Given the description of an element on the screen output the (x, y) to click on. 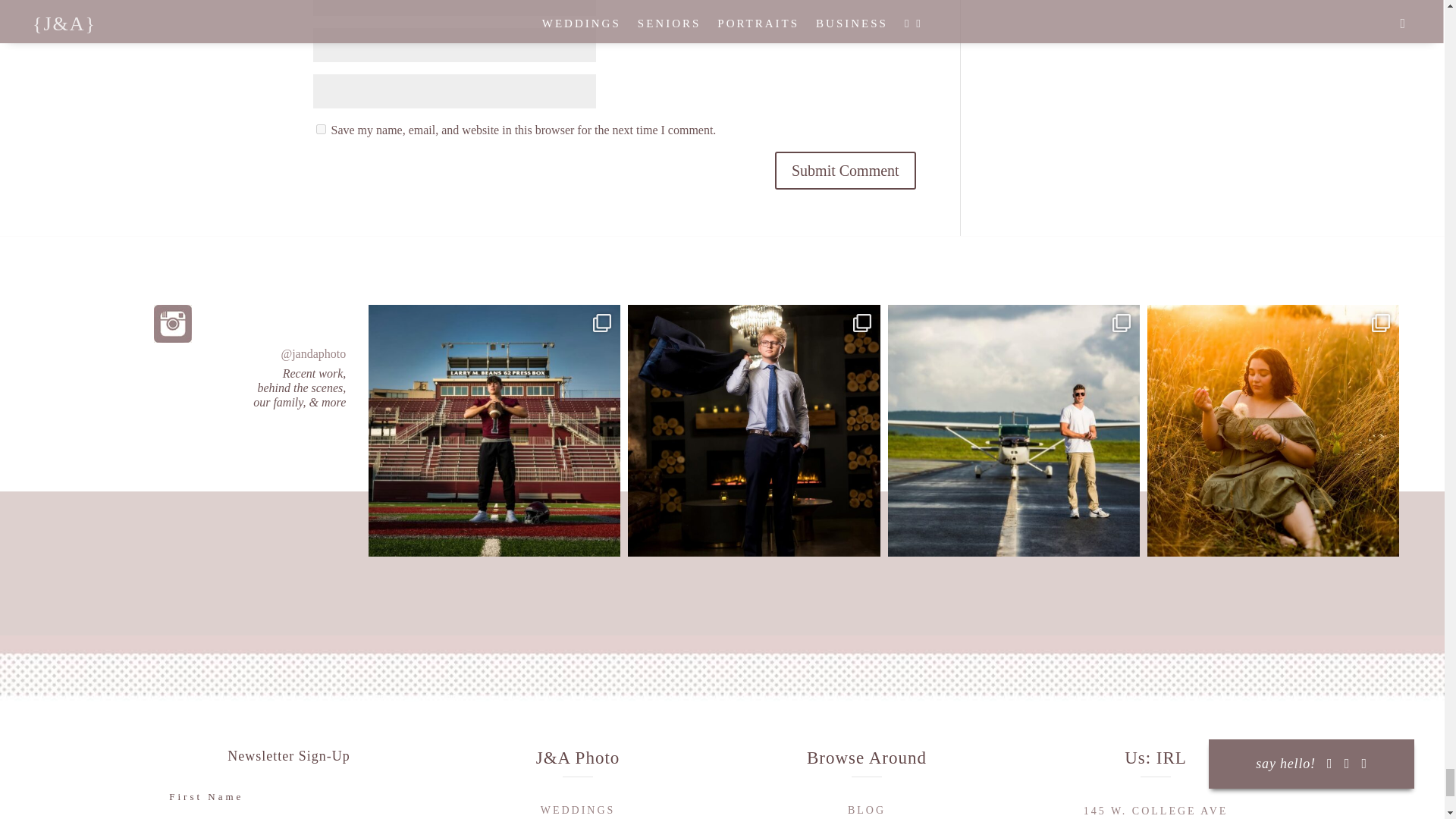
yes (319, 129)
Submit Comment (844, 170)
